Given the description of an element on the screen output the (x, y) to click on. 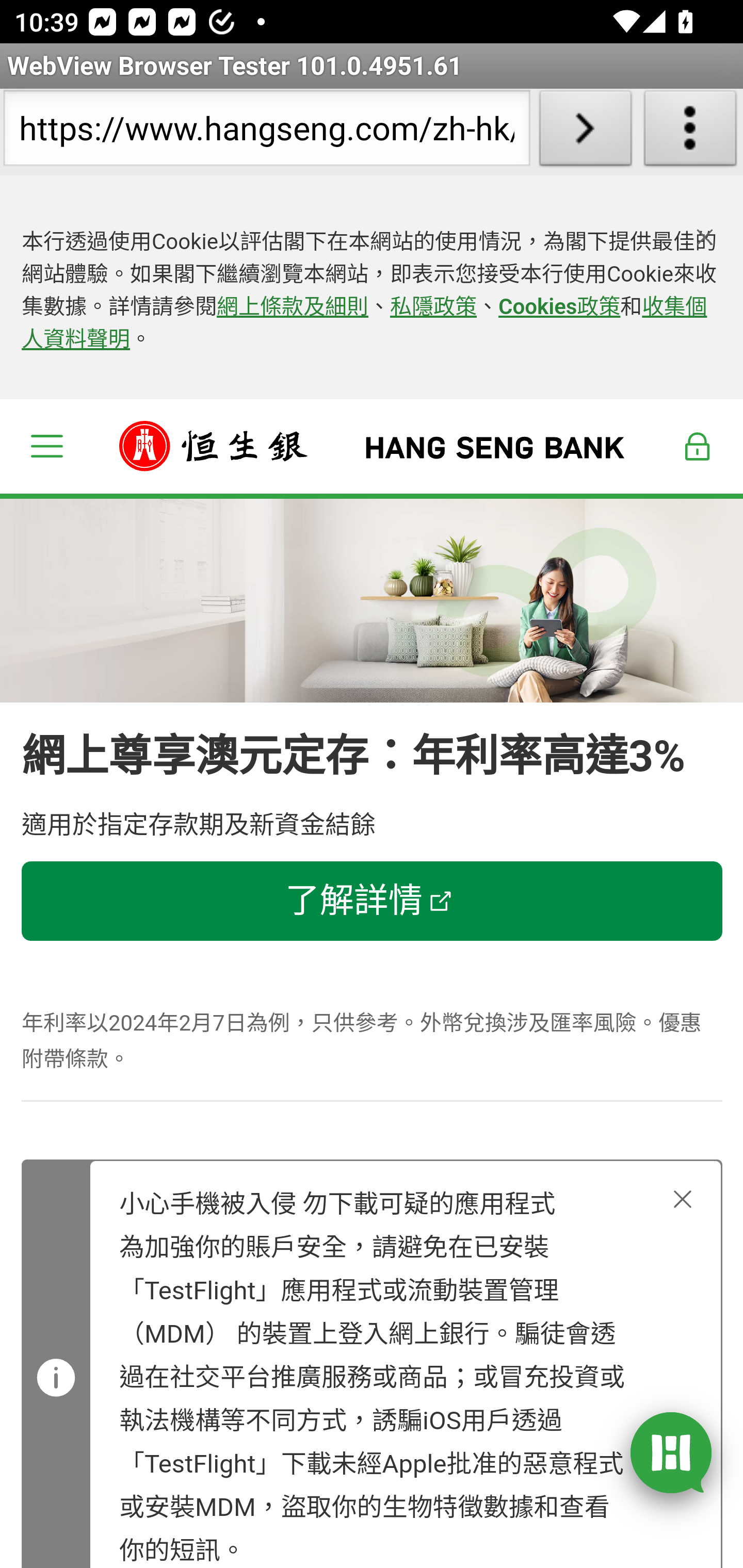
https://www.hangseng.com/zh-hk/home/ (266, 132)
Load URL (585, 132)
About WebView (690, 132)
收集個人資料聲明 (364, 324)
網上條款及細則 (293, 306)
私隱政策 (434, 306)
Cookies政策 (559, 306)
選單 (46, 445)
恒生銀行 (372, 445)
登入 (697, 445)
了解詳情 (於新視窗開啟) (372, 901)
關閉 (683, 1198)
與 HARO 對話 (於新視窗開啟) (670, 1451)
